Given the description of an element on the screen output the (x, y) to click on. 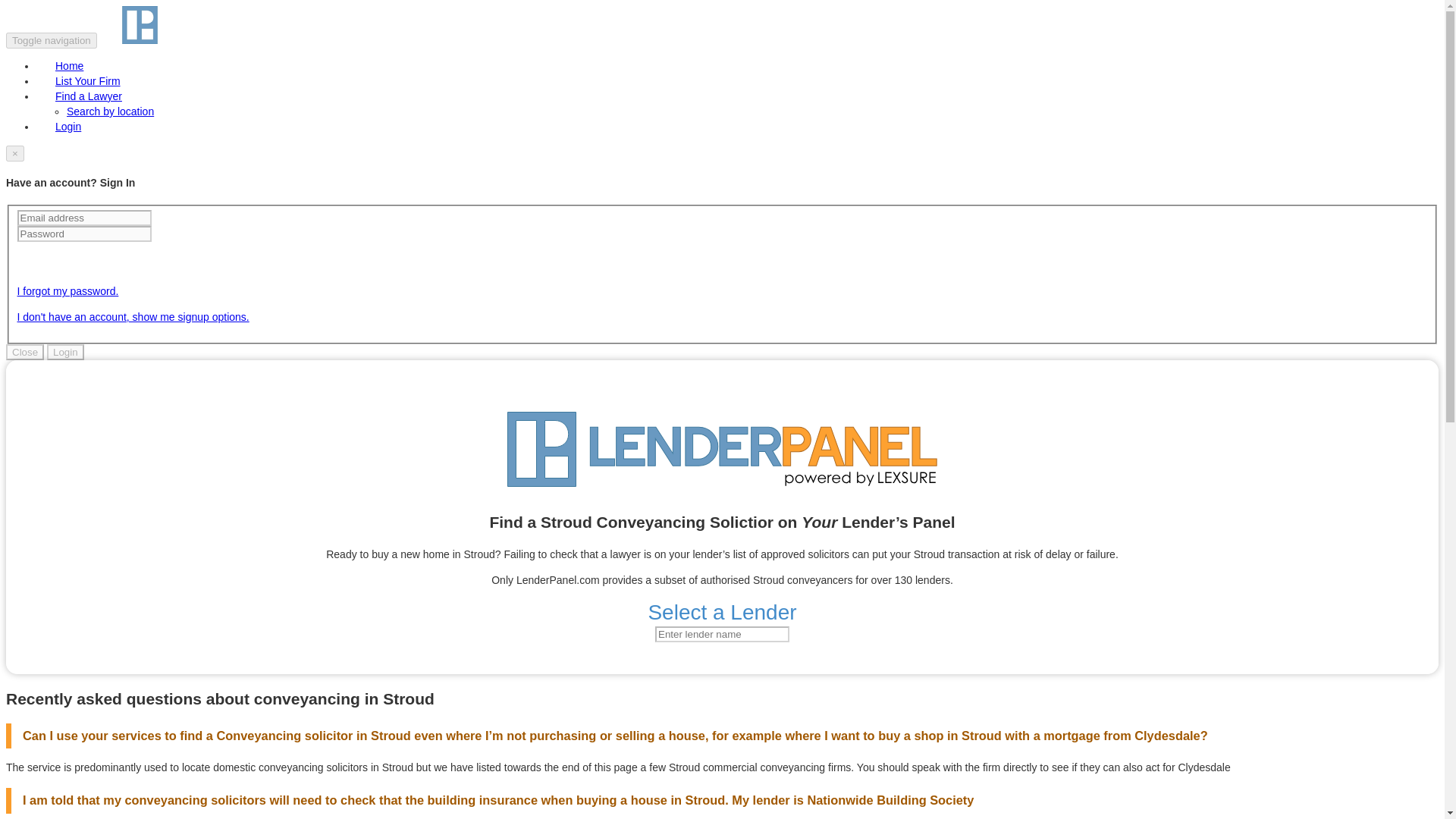
Search by location (110, 111)
I forgot my password. (66, 291)
Find a Lawyer (88, 96)
Login (68, 126)
List Your Firm (87, 81)
Toggle navigation (51, 40)
Close (24, 351)
I don't have an account, show me signup options. (132, 316)
Login (65, 351)
Home (68, 65)
